Given the description of an element on the screen output the (x, y) to click on. 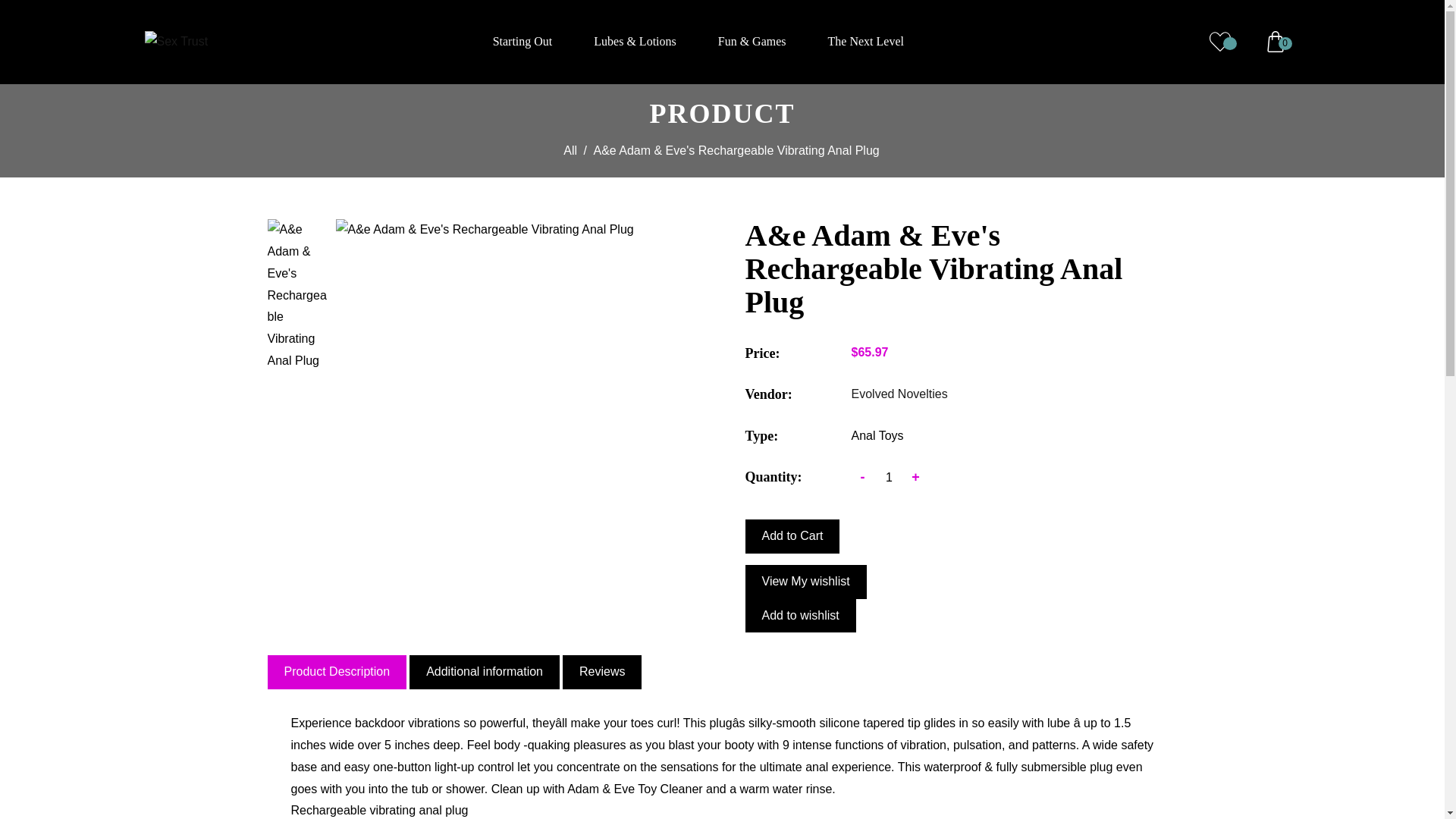
Starting Out (523, 42)
1 (888, 477)
Evolved Novelties (898, 394)
